Given the description of an element on the screen output the (x, y) to click on. 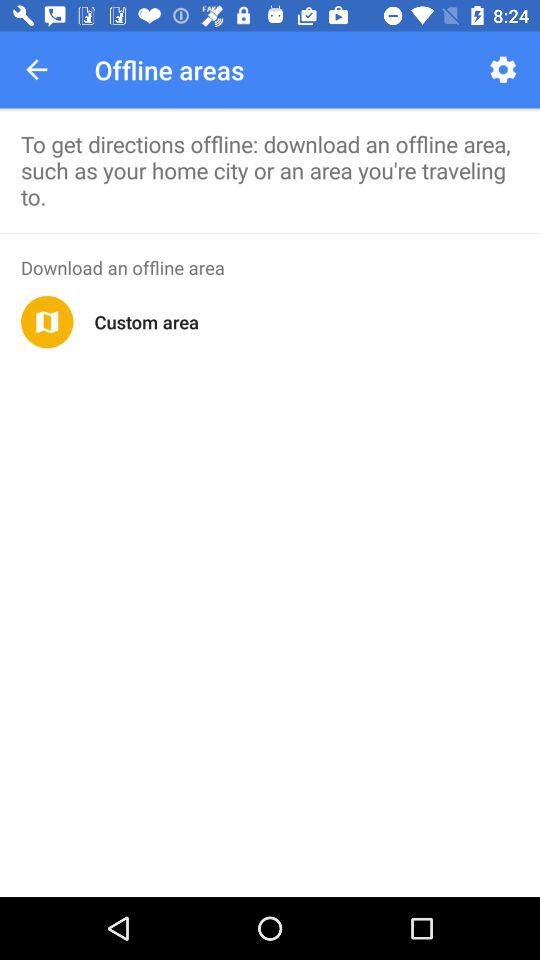
select app below to get directions icon (270, 233)
